Given the description of an element on the screen output the (x, y) to click on. 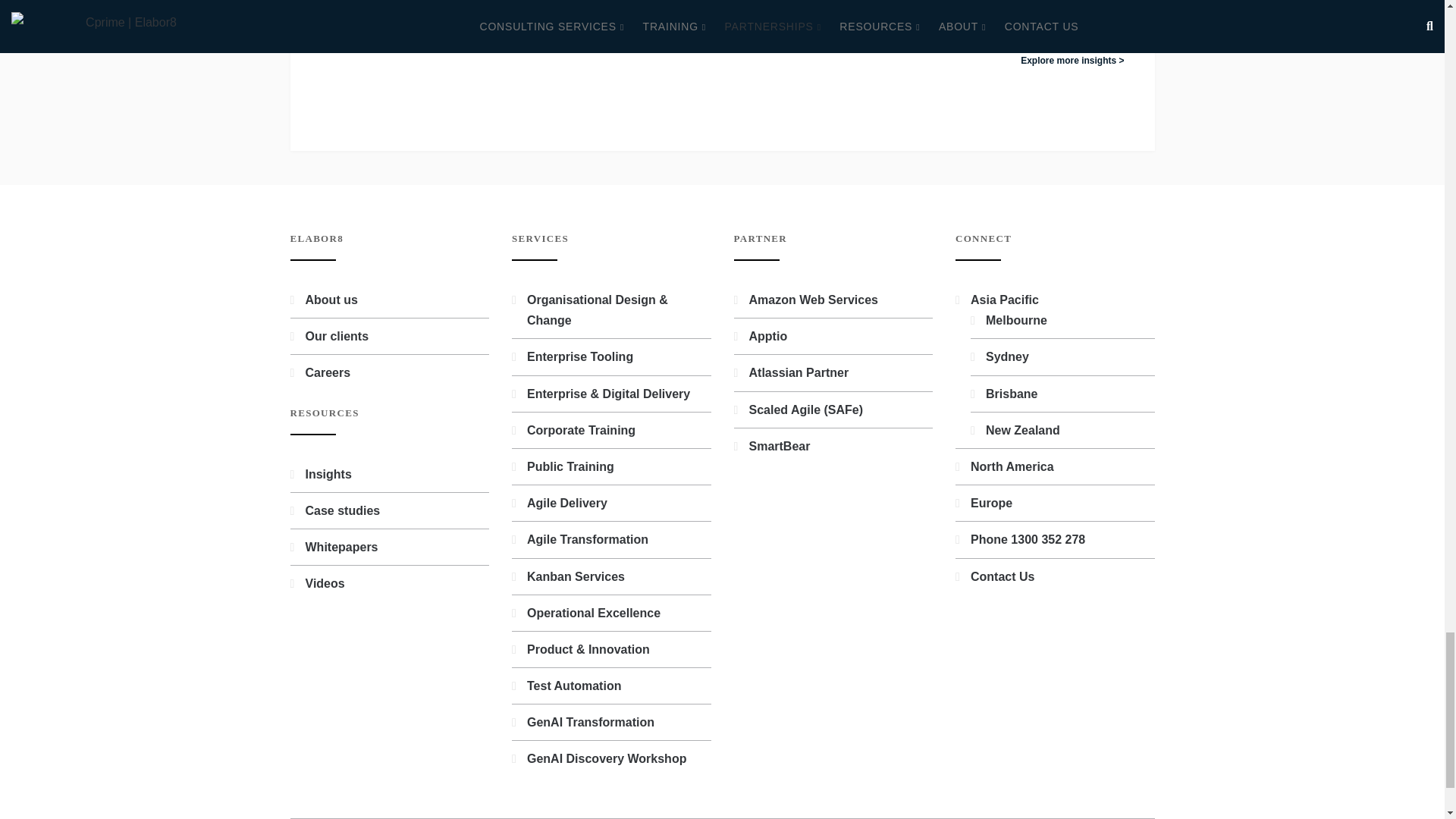
About us (330, 299)
Careers (327, 372)
Our clients (336, 336)
Load more (722, 8)
